Given the description of an element on the screen output the (x, y) to click on. 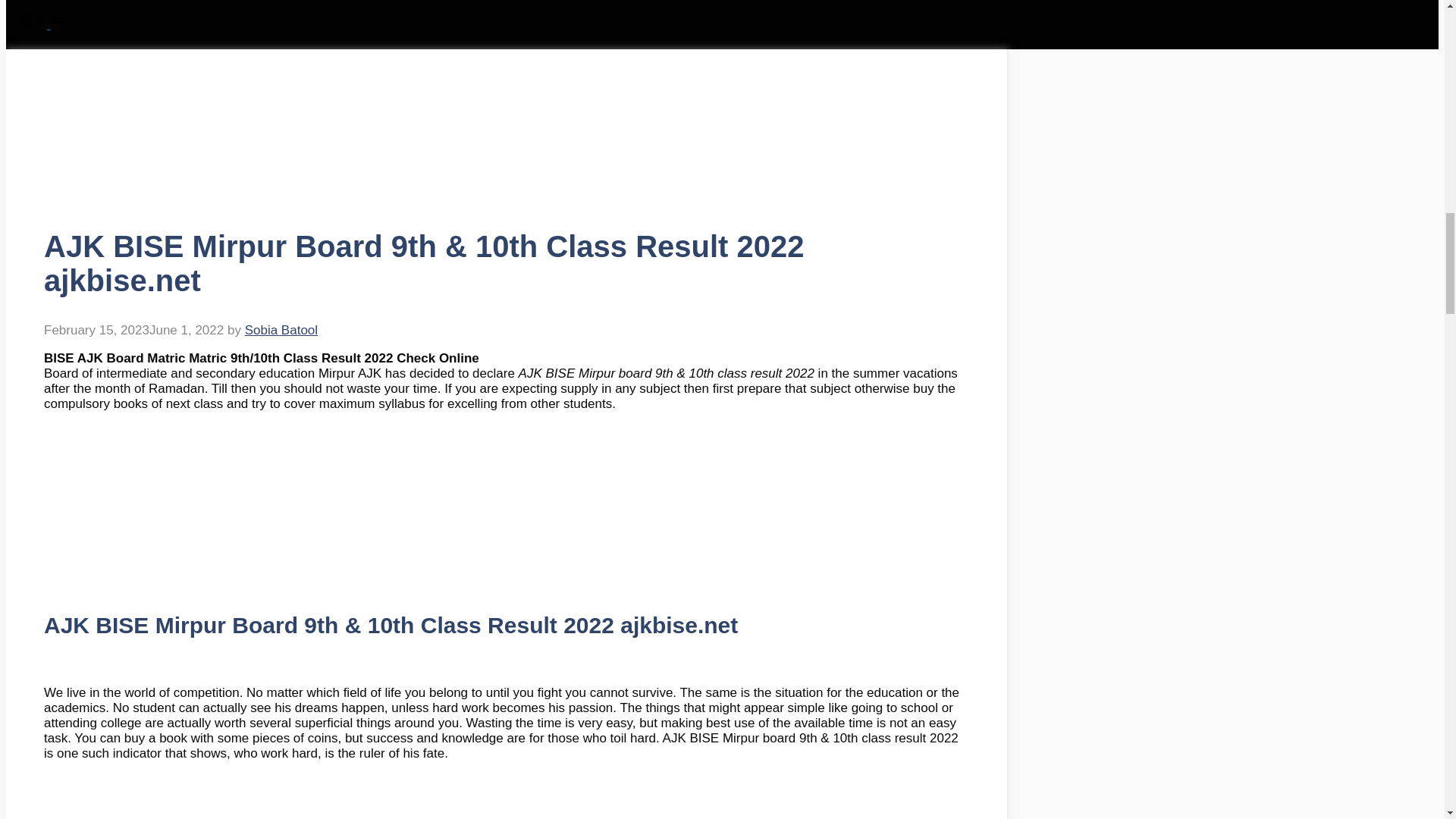
View all posts by Sobia Batool (280, 329)
Sobia Batool (280, 329)
